Given the description of an element on the screen output the (x, y) to click on. 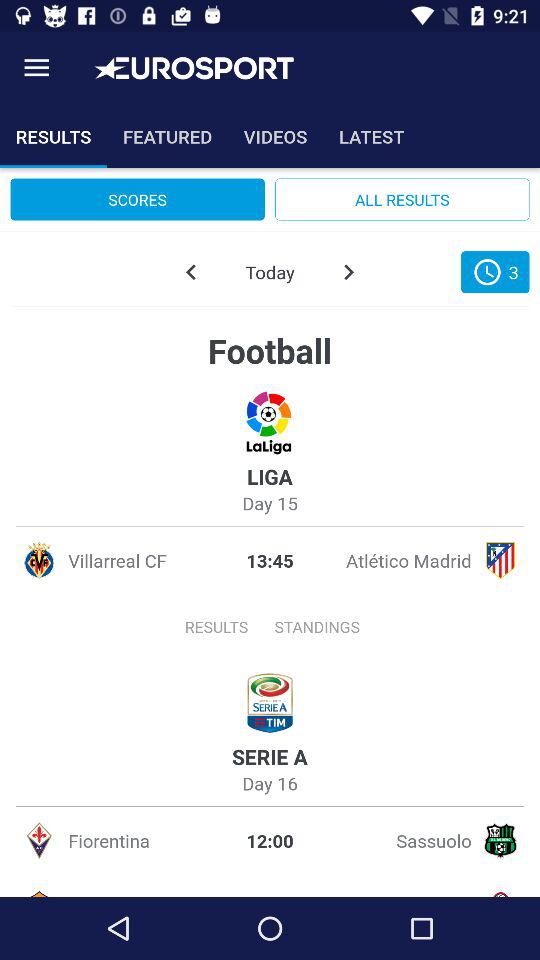
open the item above the results (36, 68)
